Given the description of an element on the screen output the (x, y) to click on. 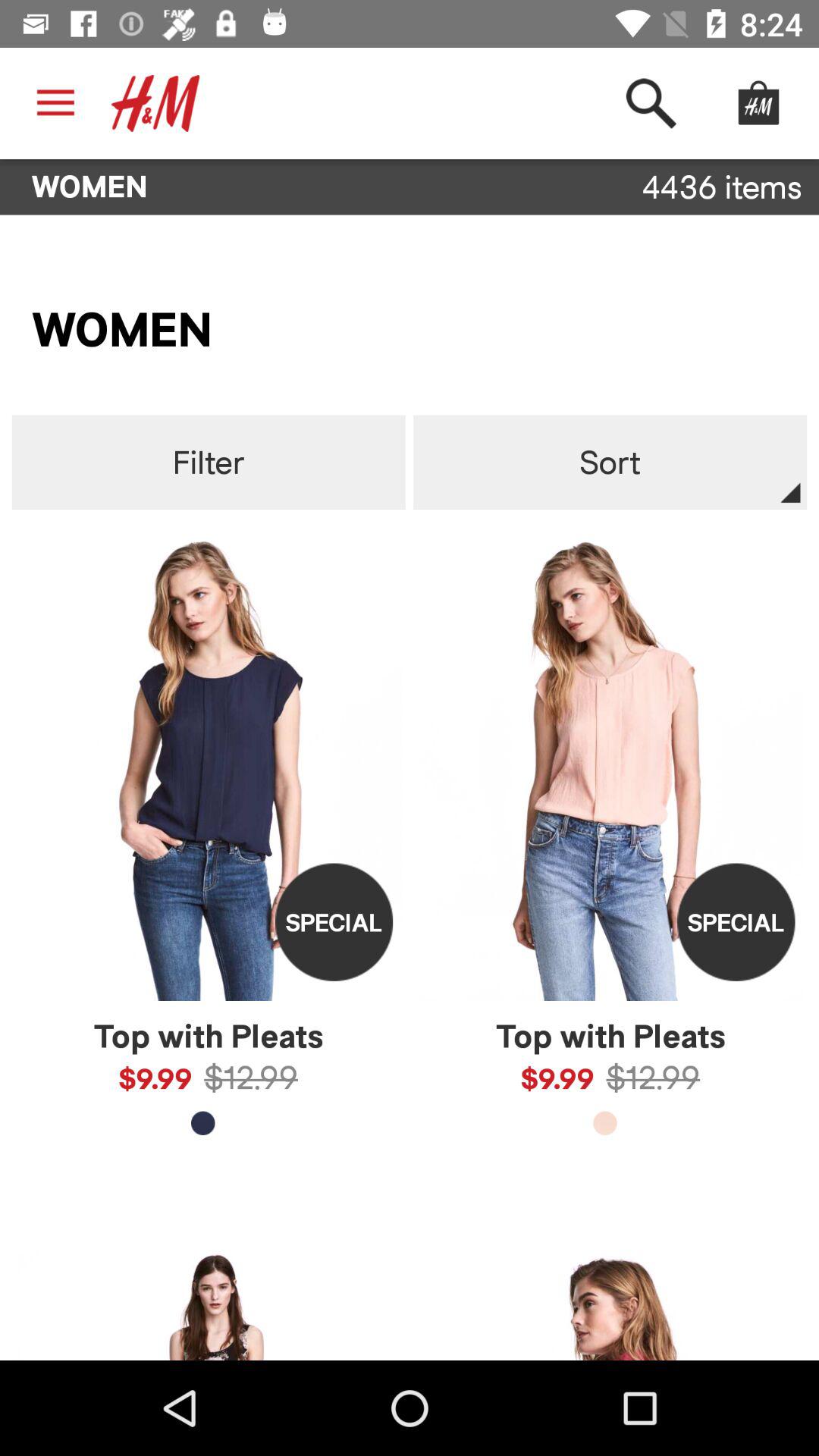
turn off icon below women icon (208, 462)
